Given the description of an element on the screen output the (x, y) to click on. 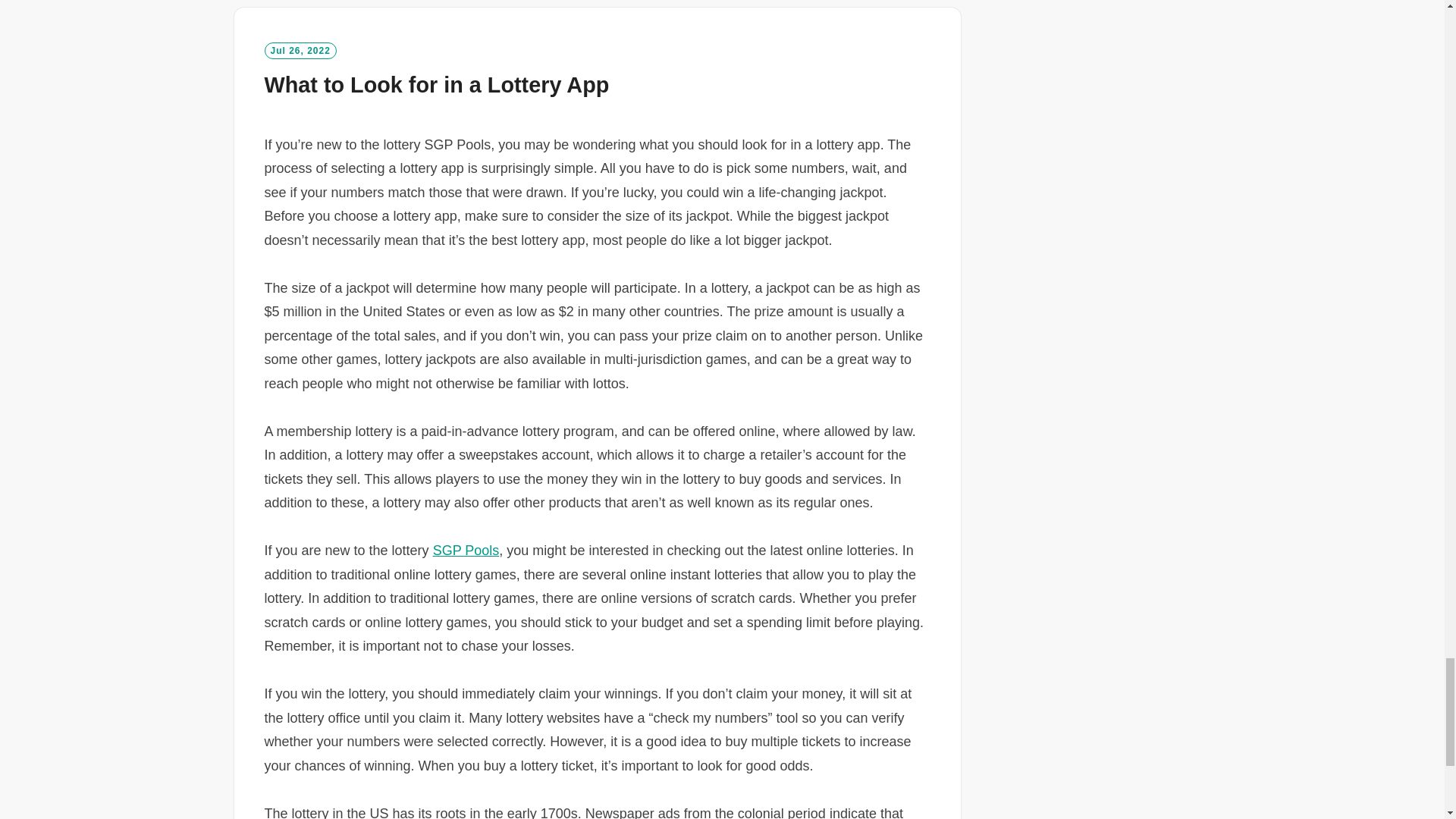
Jul 26, 2022 (299, 50)
SGP Pools (465, 549)
What to Look for in a Lottery App (435, 84)
